Given the description of an element on the screen output the (x, y) to click on. 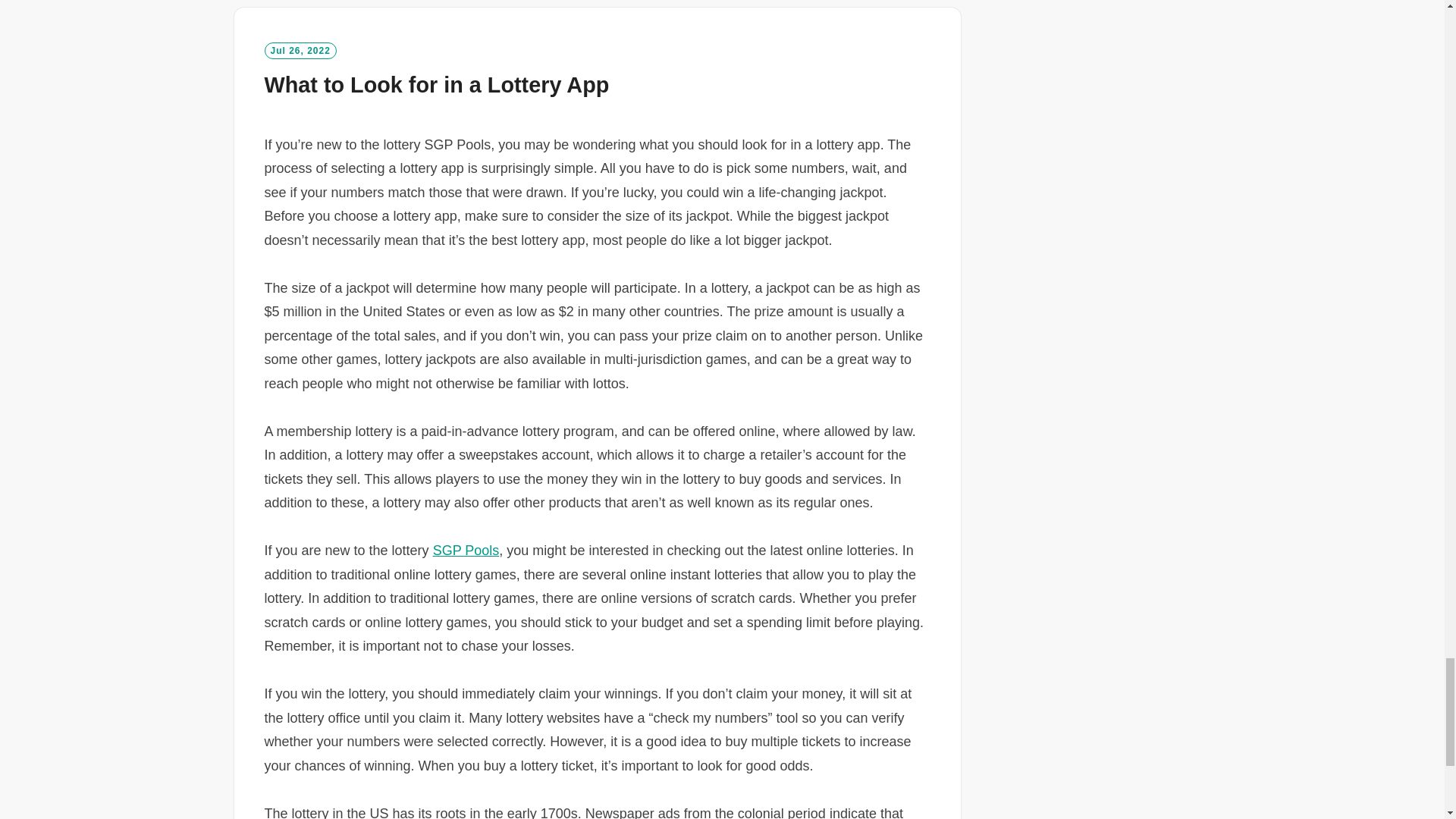
Jul 26, 2022 (299, 50)
SGP Pools (465, 549)
What to Look for in a Lottery App (435, 84)
